Given the description of an element on the screen output the (x, y) to click on. 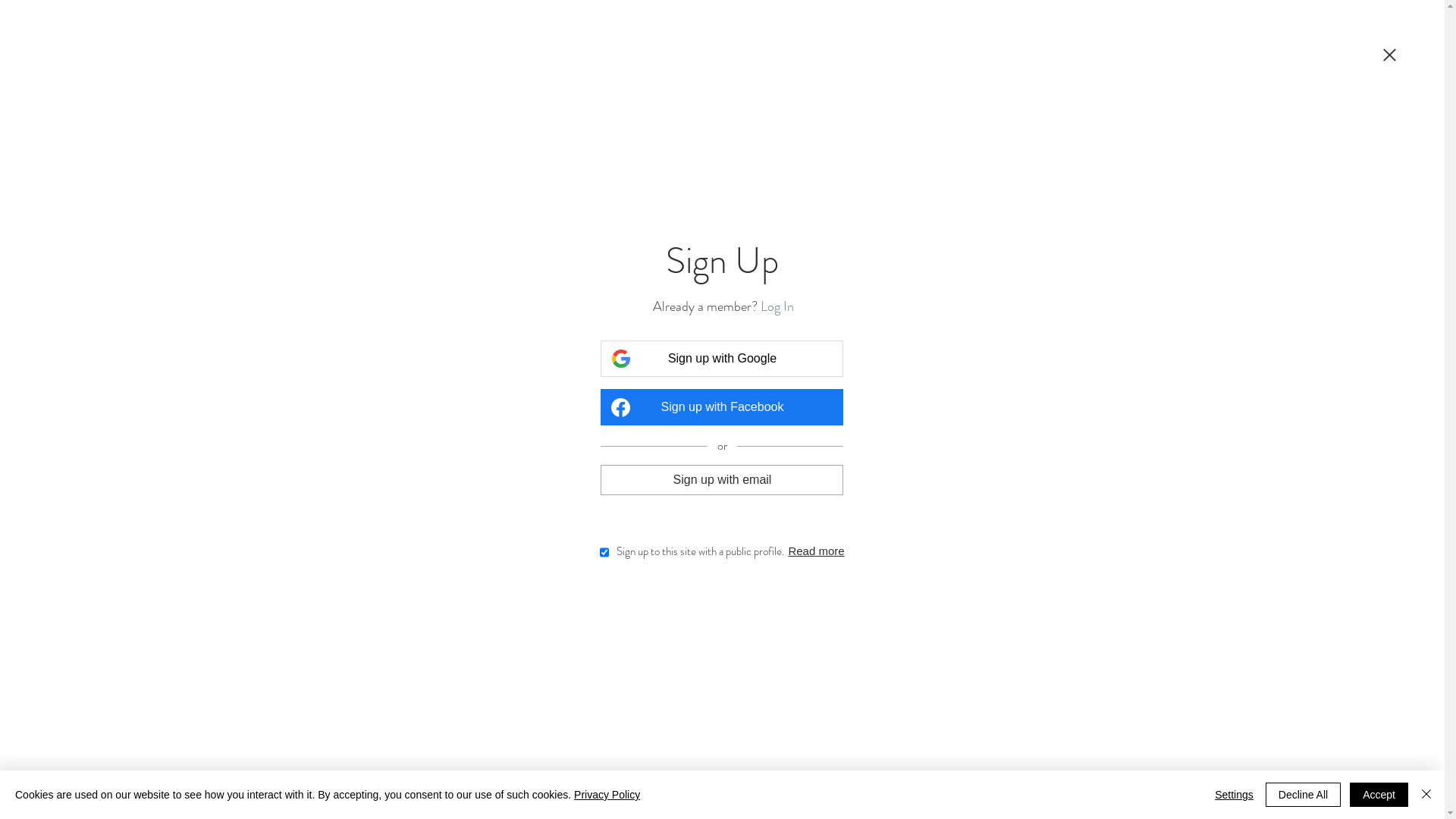
Decline All Element type: text (1302, 794)
Accept Element type: text (1378, 794)
Sign up with Google Element type: text (721, 358)
Privacy Policy Element type: text (607, 794)
Sign up with Facebook Element type: text (721, 407)
Sign up with email Element type: text (721, 479)
Read more Element type: text (815, 550)
Log In Element type: text (776, 306)
